Given the description of an element on the screen output the (x, y) to click on. 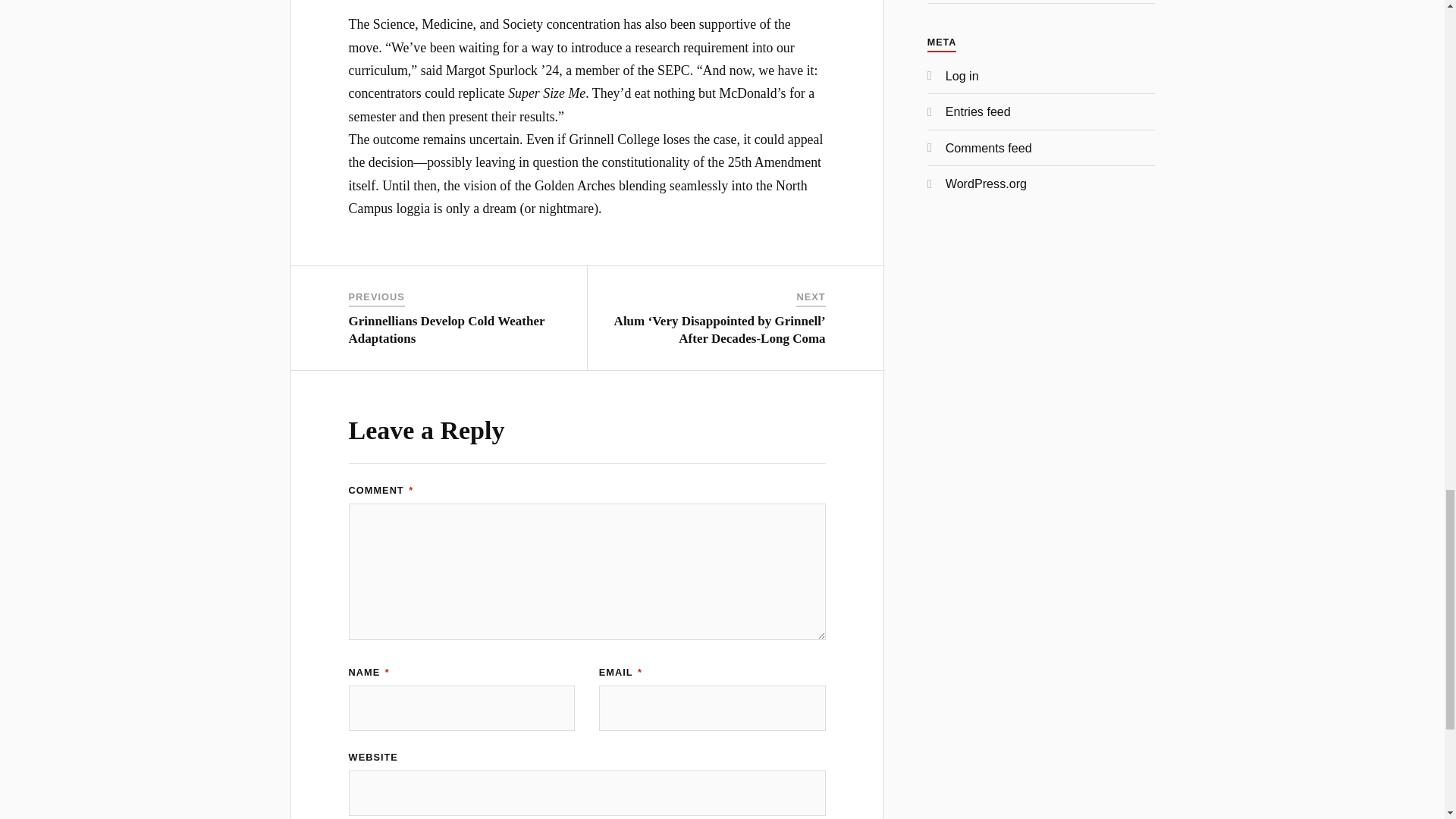
Grinnellians Develop Cold Weather Adaptations (446, 328)
